Given the description of an element on the screen output the (x, y) to click on. 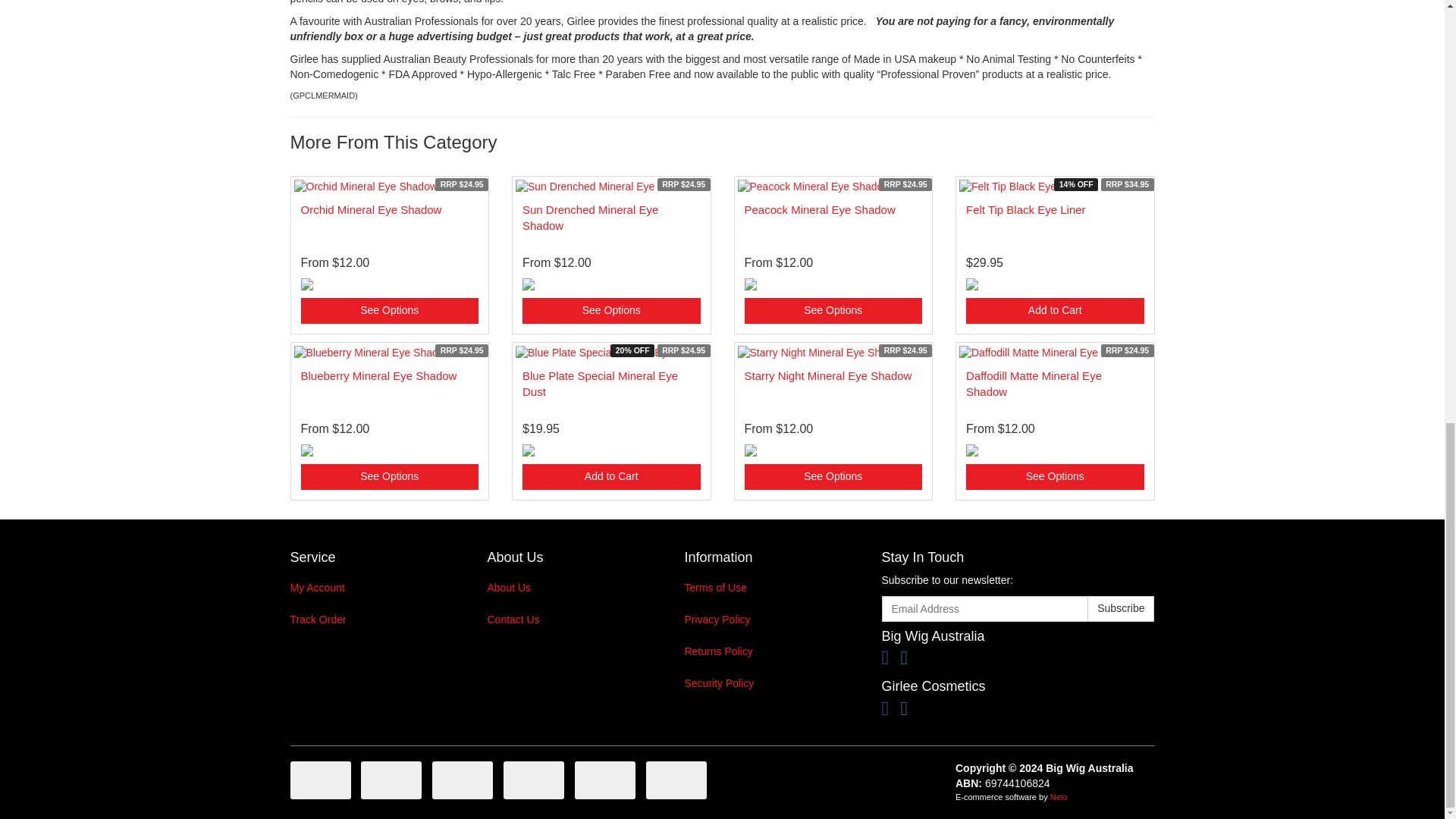
Add to Cart (1055, 310)
Buying Options (611, 310)
Blue Plate Special Mineral Eye Dust (600, 383)
Buying Options (833, 476)
Felt Tip Black Eye Liner (1026, 209)
Buying Options (389, 476)
Peacock Mineral Eye Shadow (819, 209)
Buying Options (833, 310)
Orchid Mineral Eye  Shadow (370, 209)
Buying Options (1055, 476)
Sun Drenched Mineral Eye Shadow (590, 217)
Starry Night Mineral Eye Shadow (828, 375)
Blueberry Mineral Eye Shadow (378, 375)
Subscribe (1120, 608)
Daffodill Matte Mineral Eye Shadow (1034, 383)
